Given the description of an element on the screen output the (x, y) to click on. 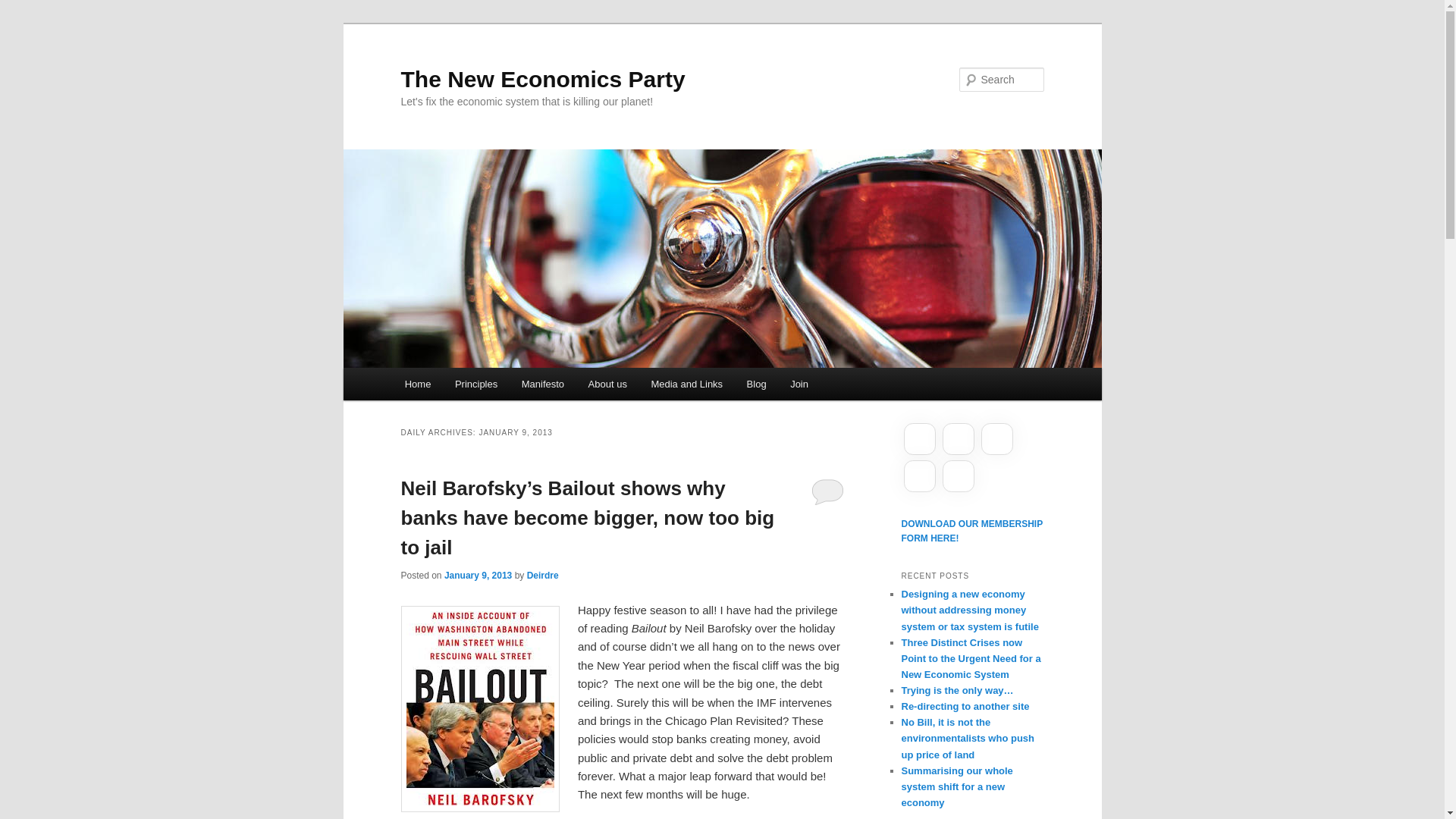
Principles (475, 383)
12:33 am (478, 575)
JOIN (971, 531)
Home (417, 383)
Search (24, 8)
View all posts by Deirdre (543, 575)
Manifesto (542, 383)
images (479, 709)
The New Economics Party (542, 78)
